Given the description of an element on the screen output the (x, y) to click on. 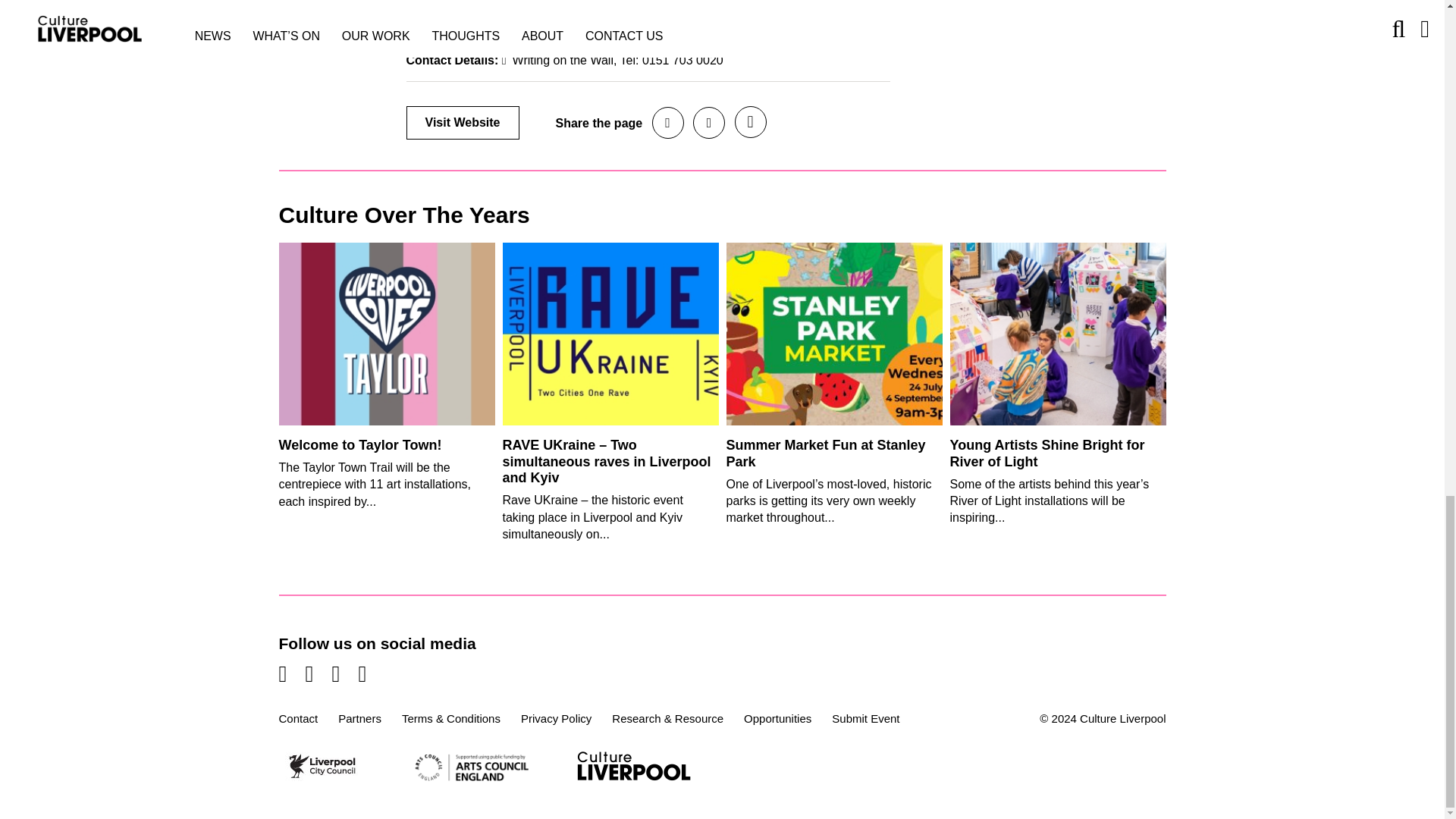
Visit Website (462, 122)
Liverpool Against Racism (635, 12)
Welcome to Taylor Town! (360, 444)
Liverpool (780, 3)
Walking (555, 17)
Community Event (641, 3)
Summer Market Fun at Stanley Park (826, 453)
Tour (510, 17)
Heritage (722, 3)
Black History Month (529, 3)
